Given the description of an element on the screen output the (x, y) to click on. 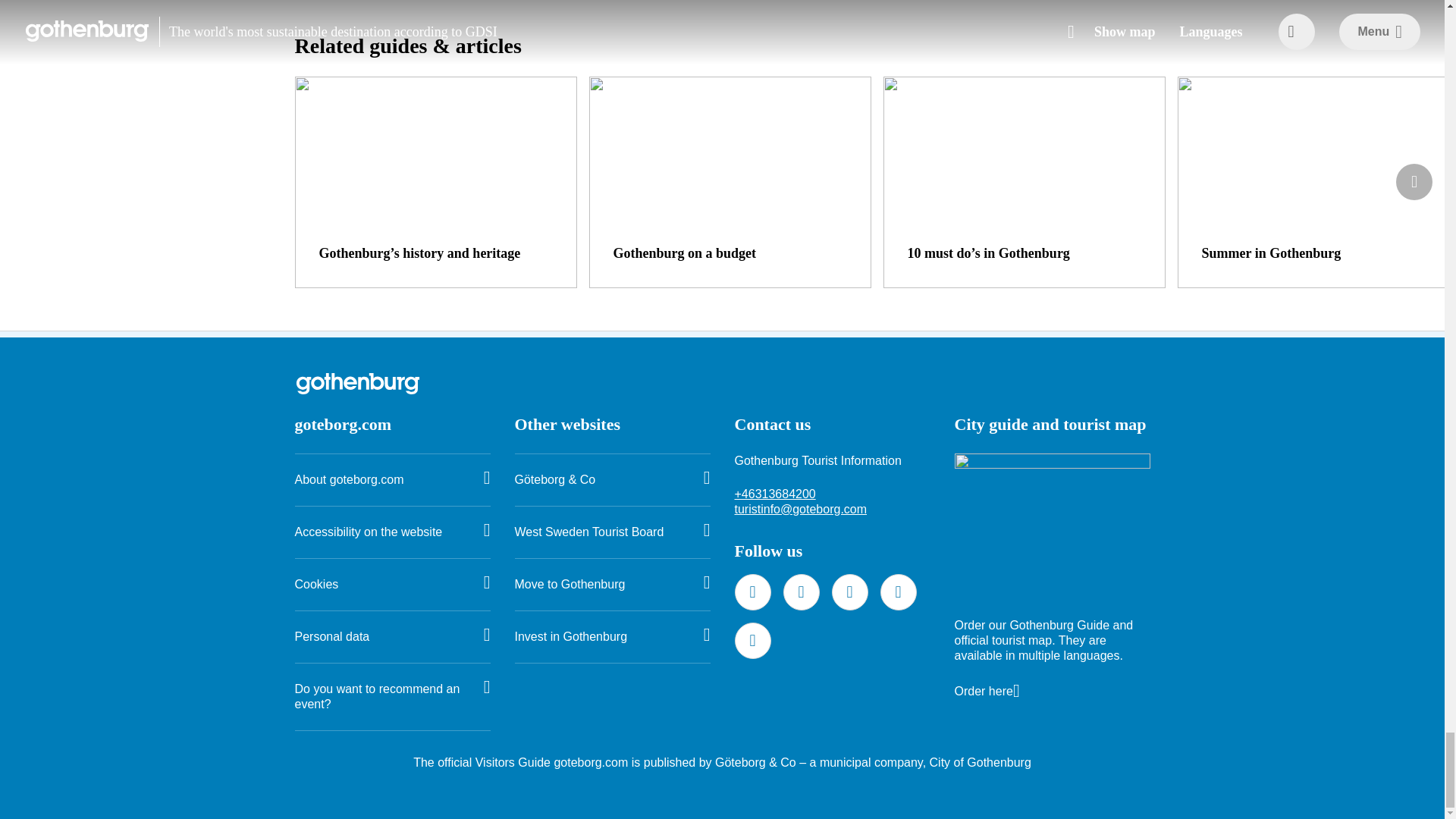
Twitter (800, 592)
Youtube (751, 640)
Facebook (751, 592)
Instagram (849, 592)
Pinterest (897, 592)
Gothenburg on a budget (729, 182)
